Given the description of an element on the screen output the (x, y) to click on. 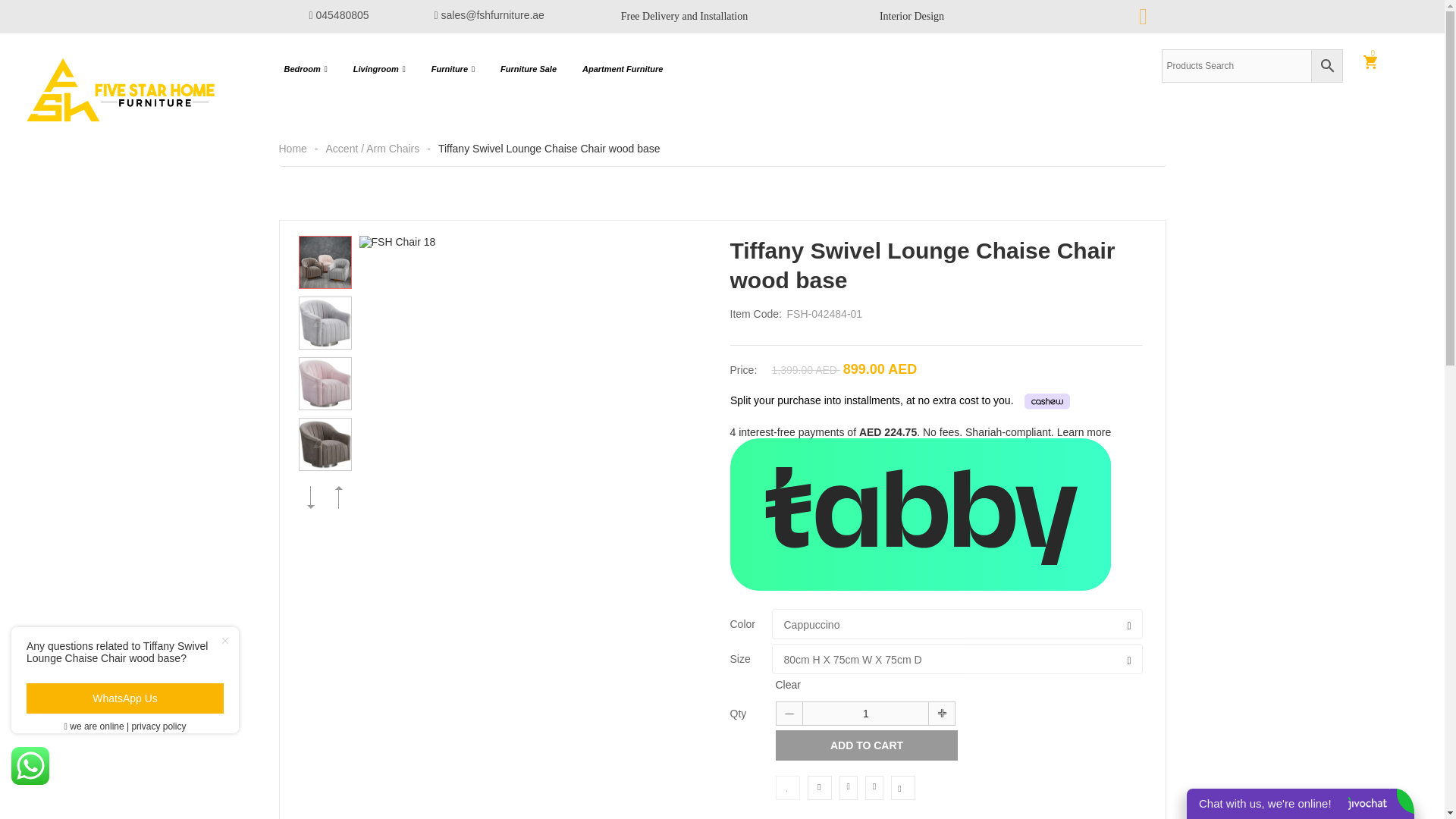
FSH Chair 18 (533, 409)
Furniture (453, 68)
Bedroom (305, 68)
045480805 (338, 15)
Interior Design (911, 16)
1 (865, 712)
FSH Chair 15 (325, 262)
Livingroom (379, 68)
